Given the description of an element on the screen output the (x, y) to click on. 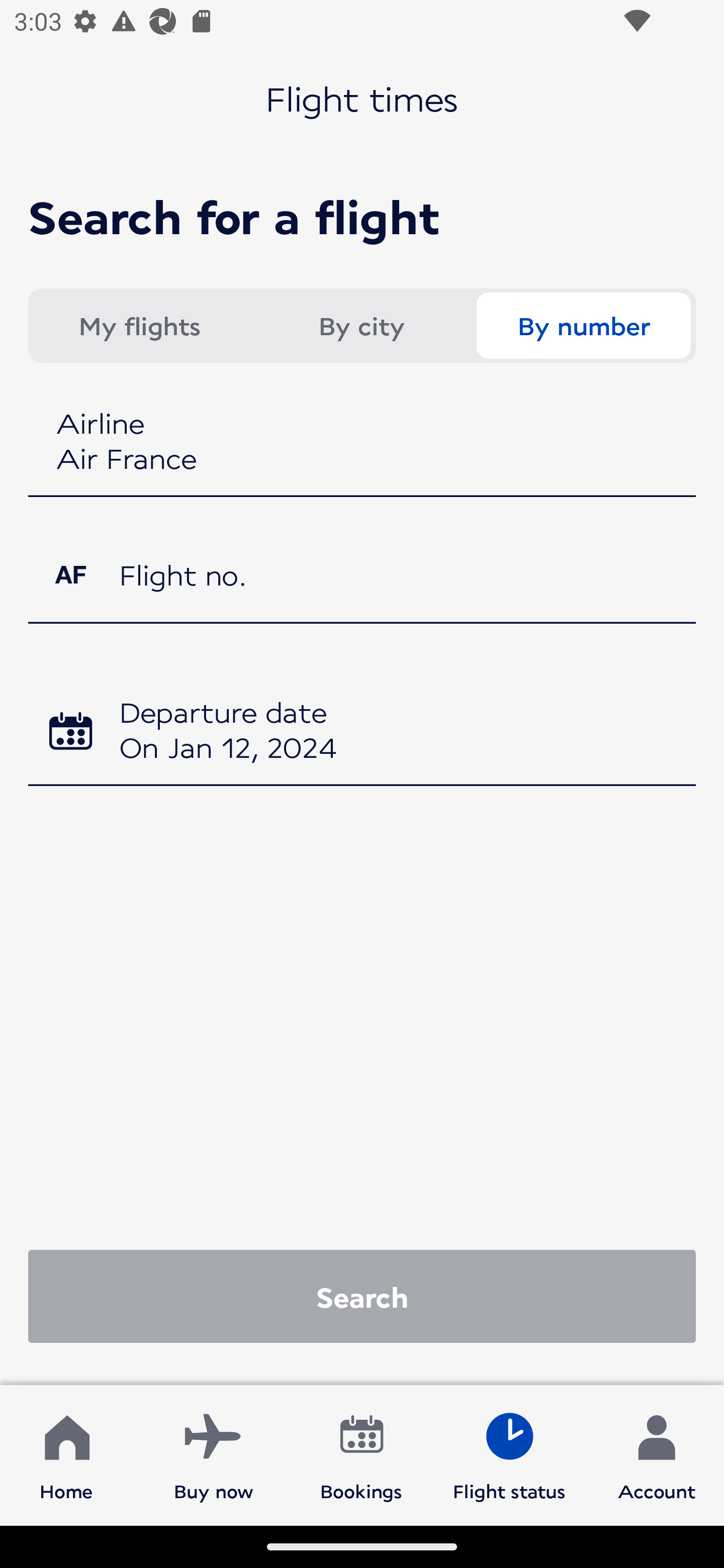
My flights (139, 325)
By city (361, 325)
By number (583, 325)
Air France Airline (361, 443)
Flight no. (361, 588)
On Jan 12, 2024 Departure date (361, 732)
Search (361, 1295)
Home (66, 1454)
Buy now (213, 1454)
Bookings (361, 1454)
Account (657, 1454)
